Given the description of an element on the screen output the (x, y) to click on. 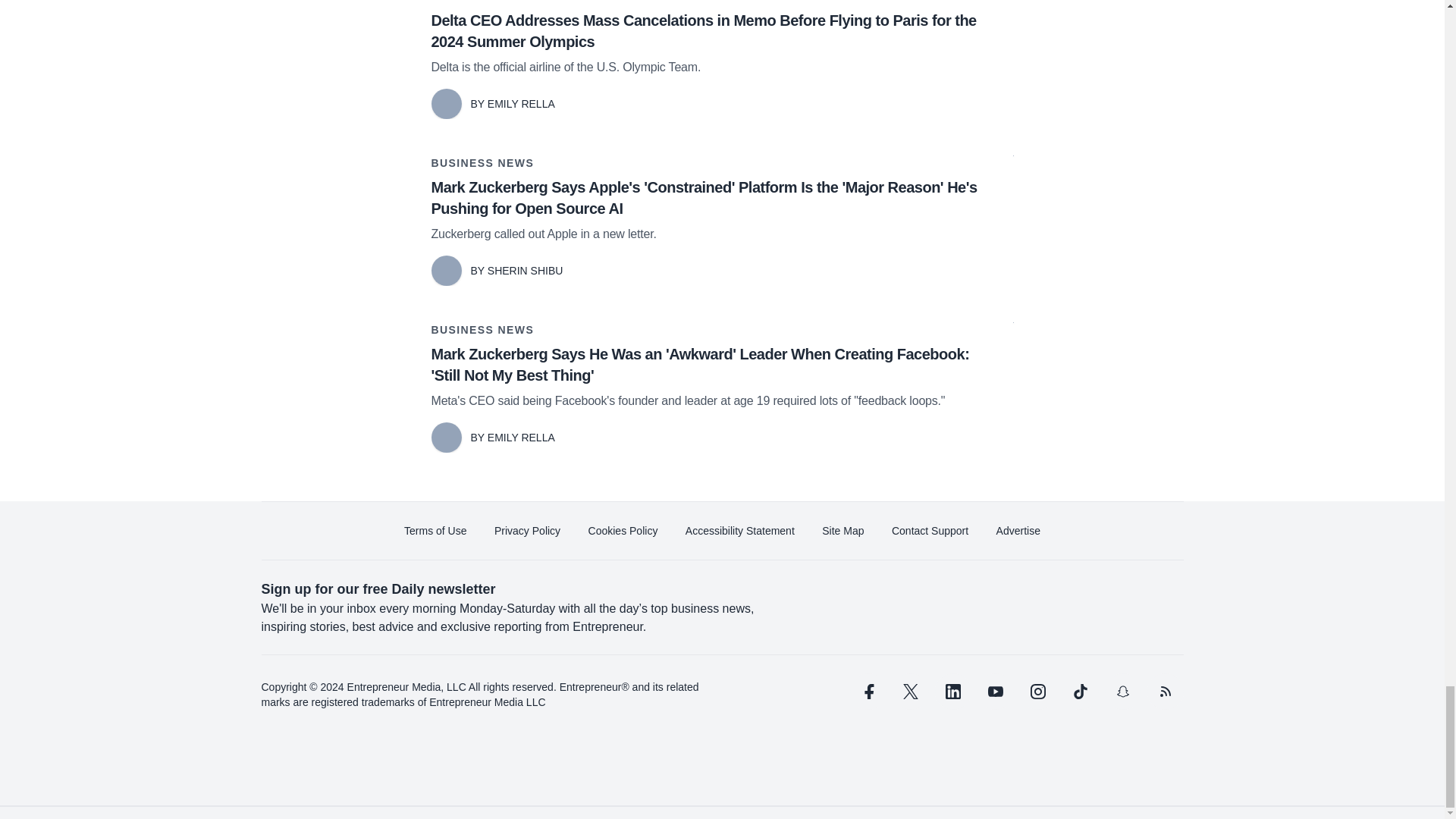
twitter (909, 691)
youtube (994, 691)
linkedin (952, 691)
instagram (1037, 691)
facebook (866, 691)
snapchat (1121, 691)
tiktok (1079, 691)
